Given the description of an element on the screen output the (x, y) to click on. 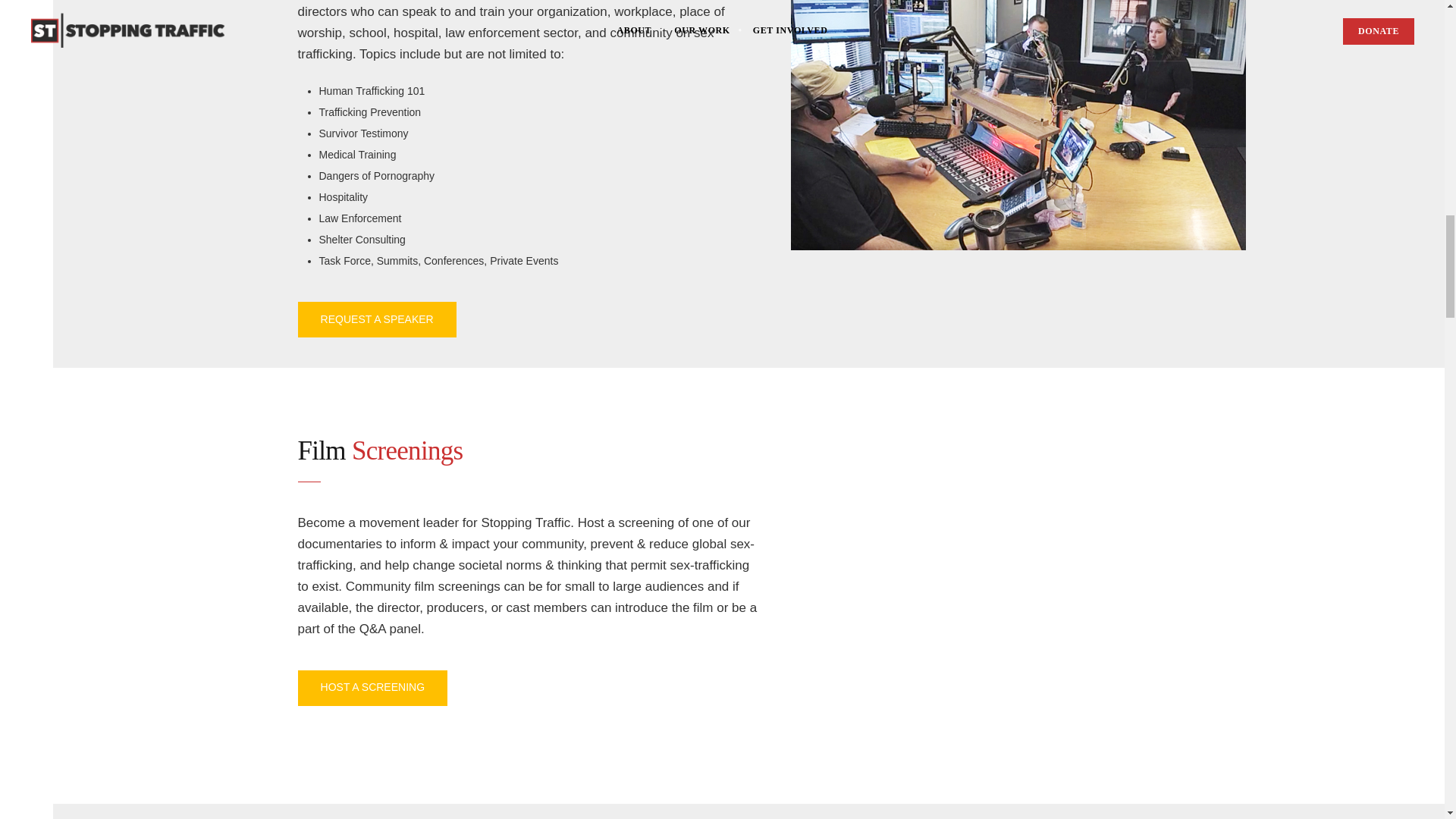
Host a Screening (371, 687)
HOST A SCREENING (371, 687)
REQUEST A SPEAKER (376, 319)
